Given the description of an element on the screen output the (x, y) to click on. 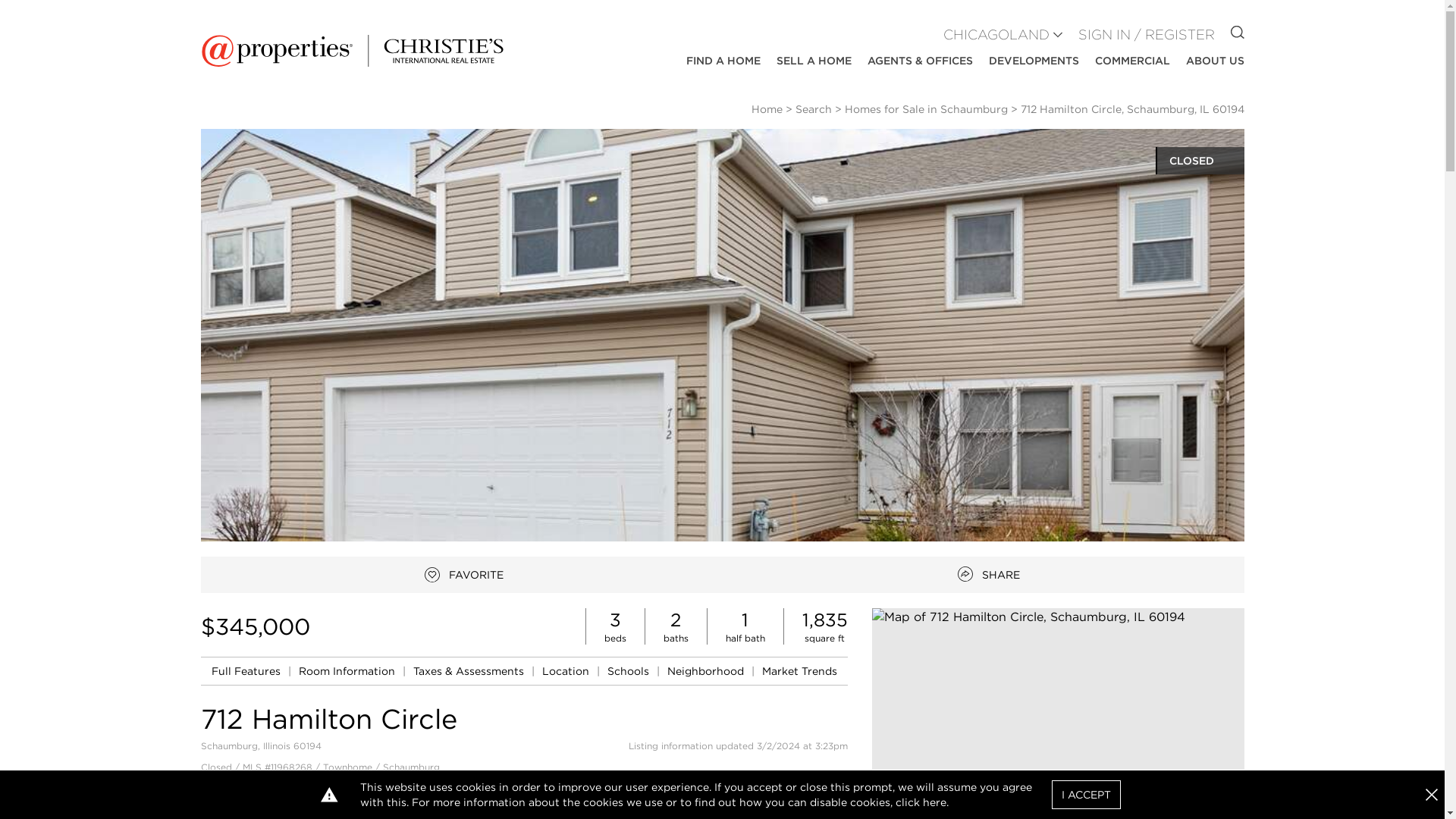
SELL A HOME (813, 61)
Location (566, 671)
COMMERCIAL (1132, 61)
Search (812, 109)
Schaumburg (410, 767)
CHICAGOLAND (996, 34)
ABOUT US (1215, 61)
DEVELOPMENTS (1033, 61)
Home (766, 109)
Market Trends (799, 671)
